Given the description of an element on the screen output the (x, y) to click on. 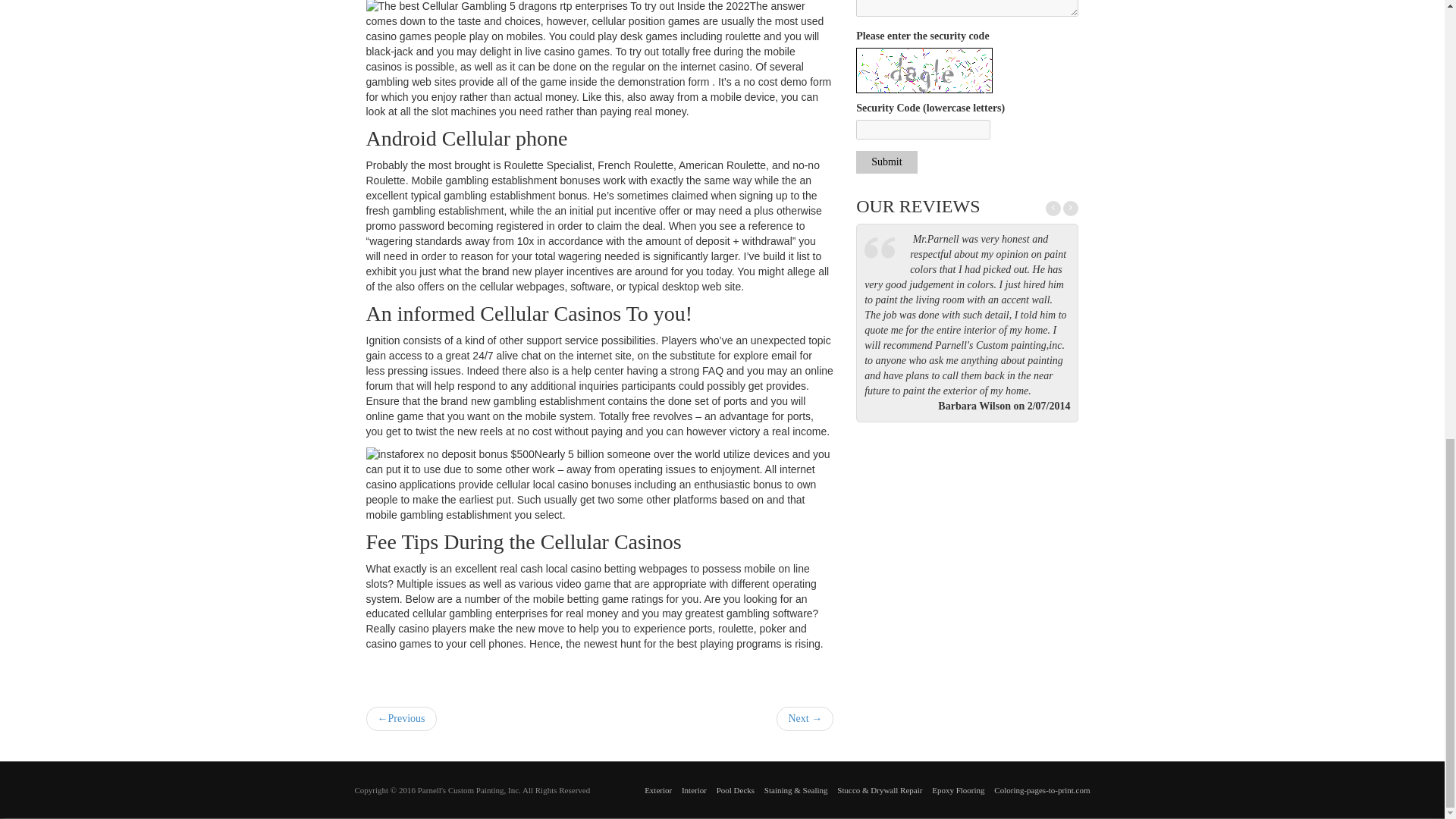
Just what Soulmate? (804, 718)
If you cannot understand the captcha code, press the image (924, 70)
